Given the description of an element on the screen output the (x, y) to click on. 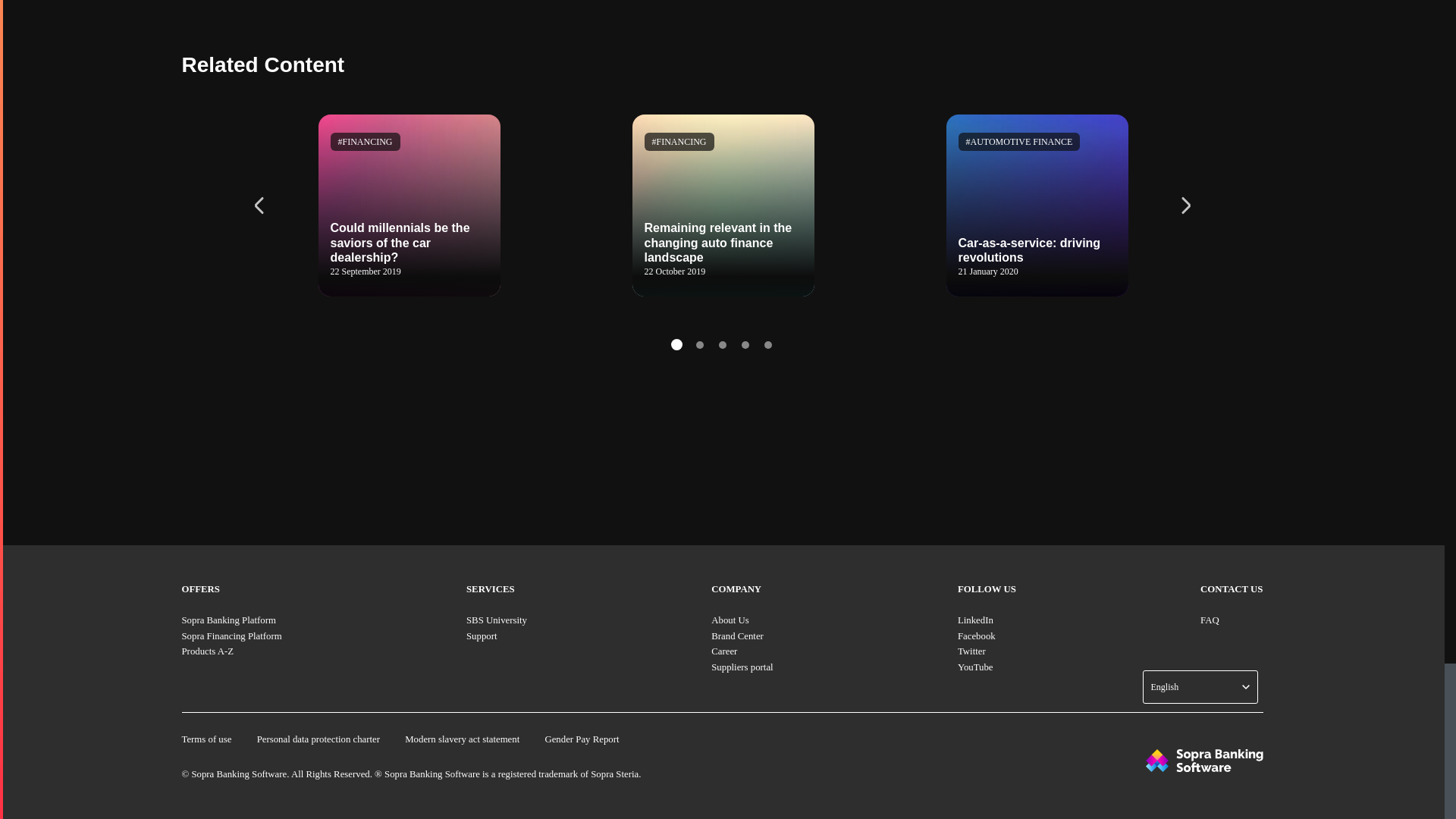
Support (481, 635)
Products A-Z (208, 651)
Services (490, 588)
SBS University (496, 620)
Sopra Financing Platform (232, 635)
Sopra Banking Platform (229, 620)
Offers (200, 588)
Company (736, 588)
